Given the description of an element on the screen output the (x, y) to click on. 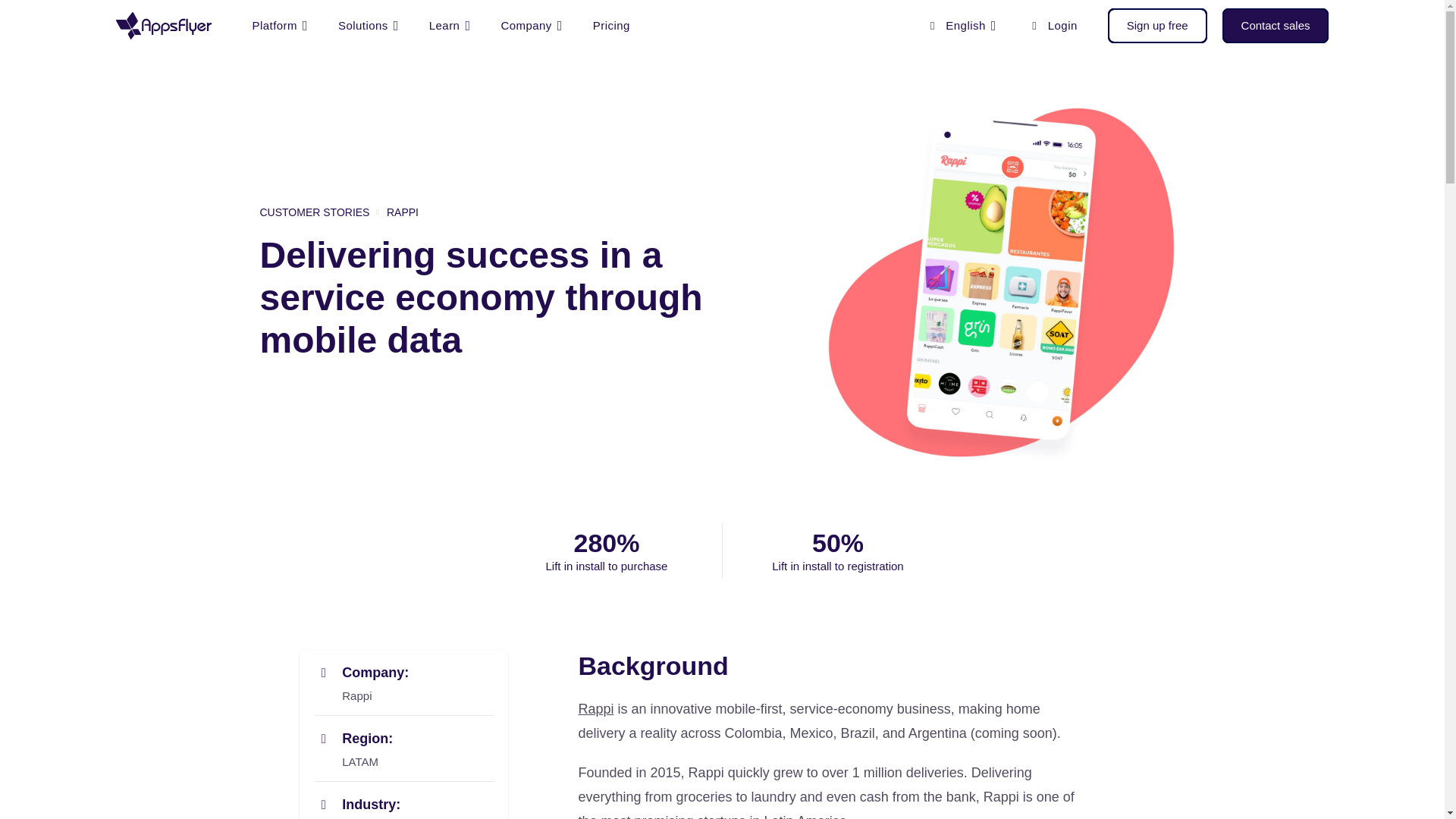
Solutions (368, 25)
Solutions (368, 25)
Platform (278, 25)
Platform (278, 25)
